Given the description of an element on the screen output the (x, y) to click on. 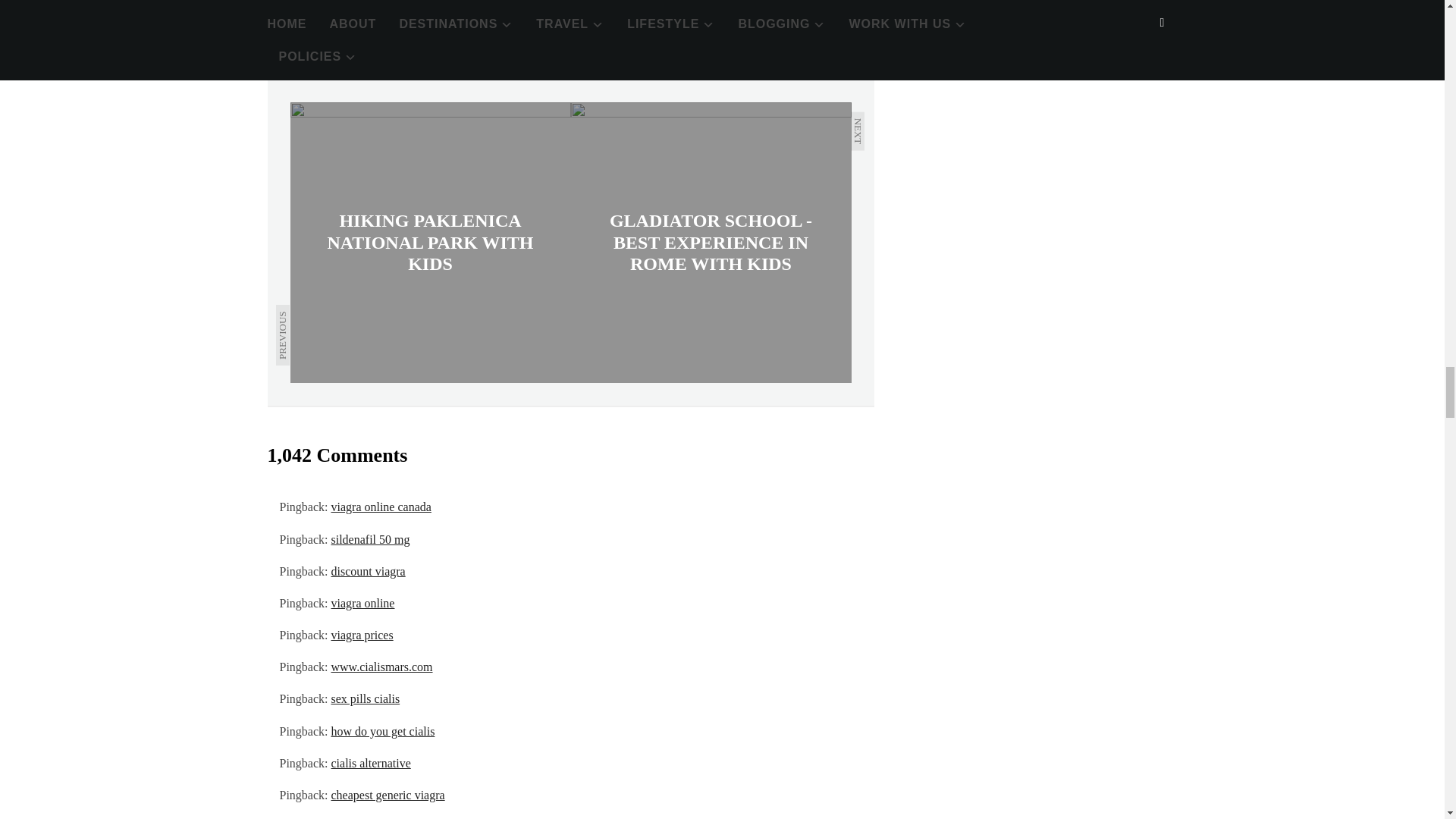
Follow Laura on Twitter (473, 23)
Facebook Profile (409, 23)
Hiking Paklenica National Park With Kids (429, 242)
Instagram (539, 23)
Gladiator School - Best Experience In Rome With Kids (710, 242)
